Given the description of an element on the screen output the (x, y) to click on. 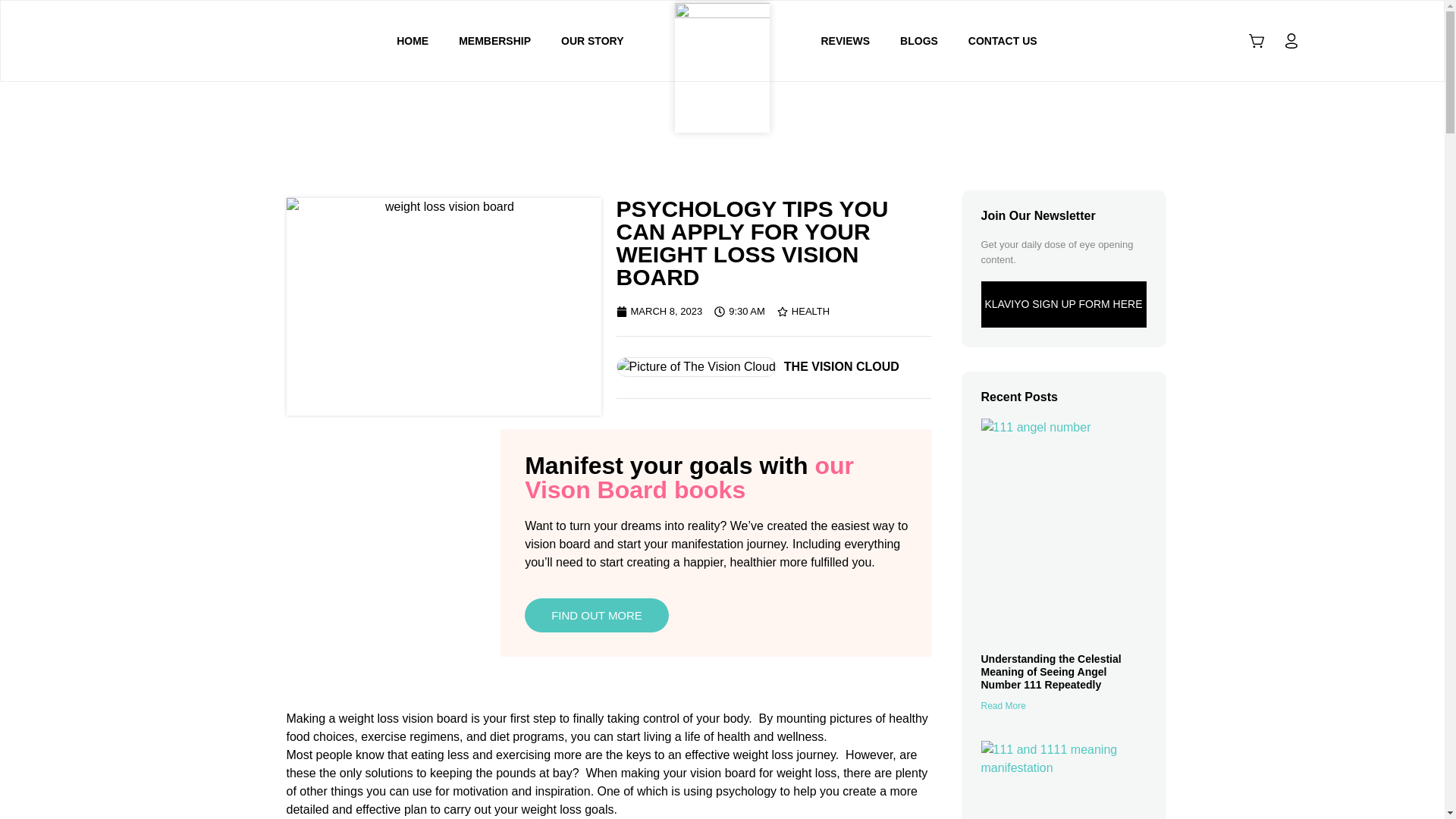
BLOGS (919, 40)
MEMBERSHIP (495, 40)
HOME (412, 40)
CONTACT US (1002, 40)
HEALTH (810, 310)
MARCH 8, 2023 (658, 311)
REVIEWS (845, 40)
FIND OUT MORE (596, 615)
OUR STORY (592, 40)
